Given the description of an element on the screen output the (x, y) to click on. 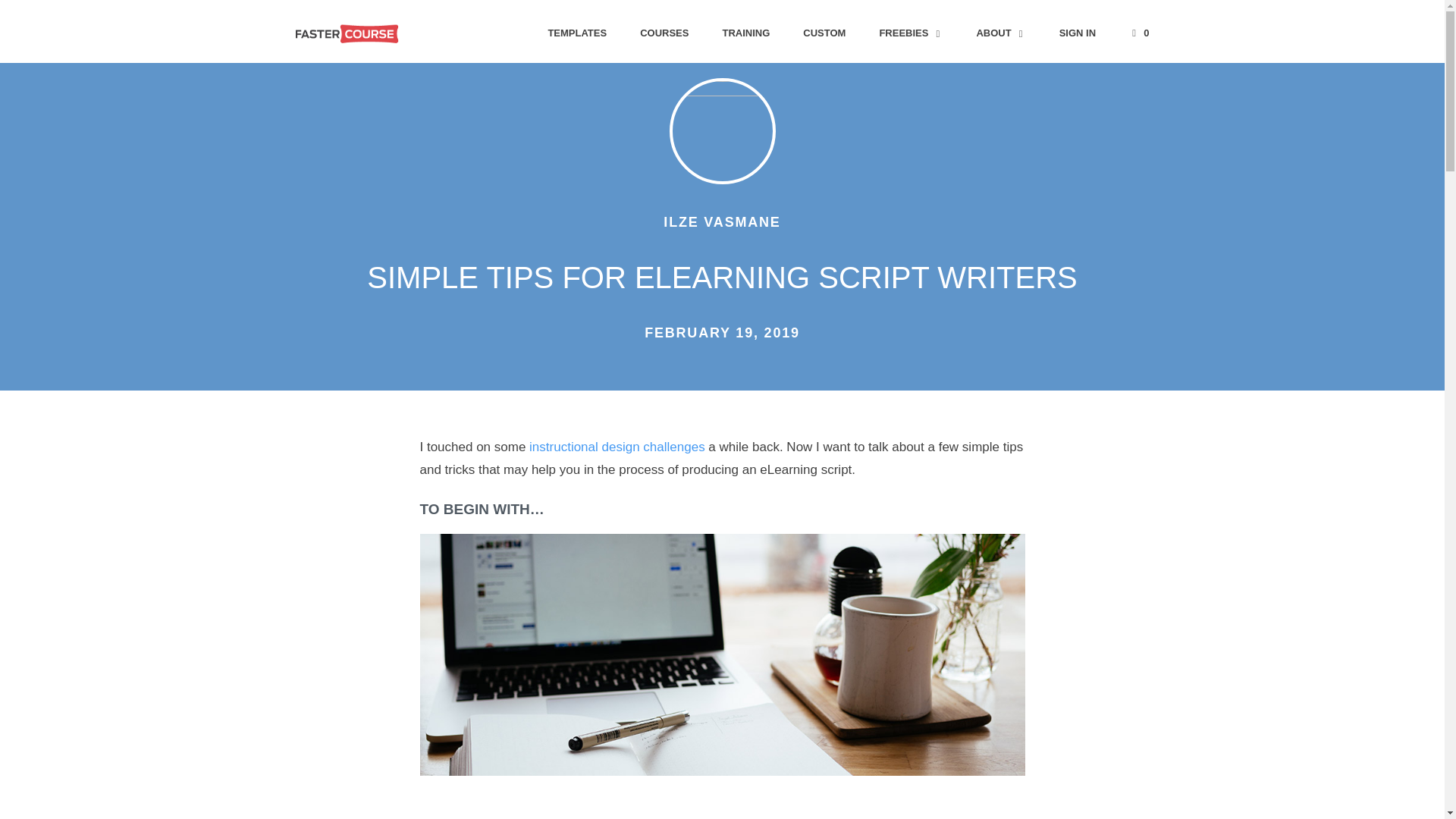
COURSES (663, 32)
SIGN IN (1077, 32)
CUSTOM (823, 32)
TRAINING (745, 32)
FREEBIES (910, 32)
View all posts by Ilze Vasmane (721, 221)
ILZE VASMANE (721, 221)
ABOUT (1000, 32)
instructional design challenges (616, 446)
TEMPLATES (577, 32)
0 (1139, 32)
